Given the description of an element on the screen output the (x, y) to click on. 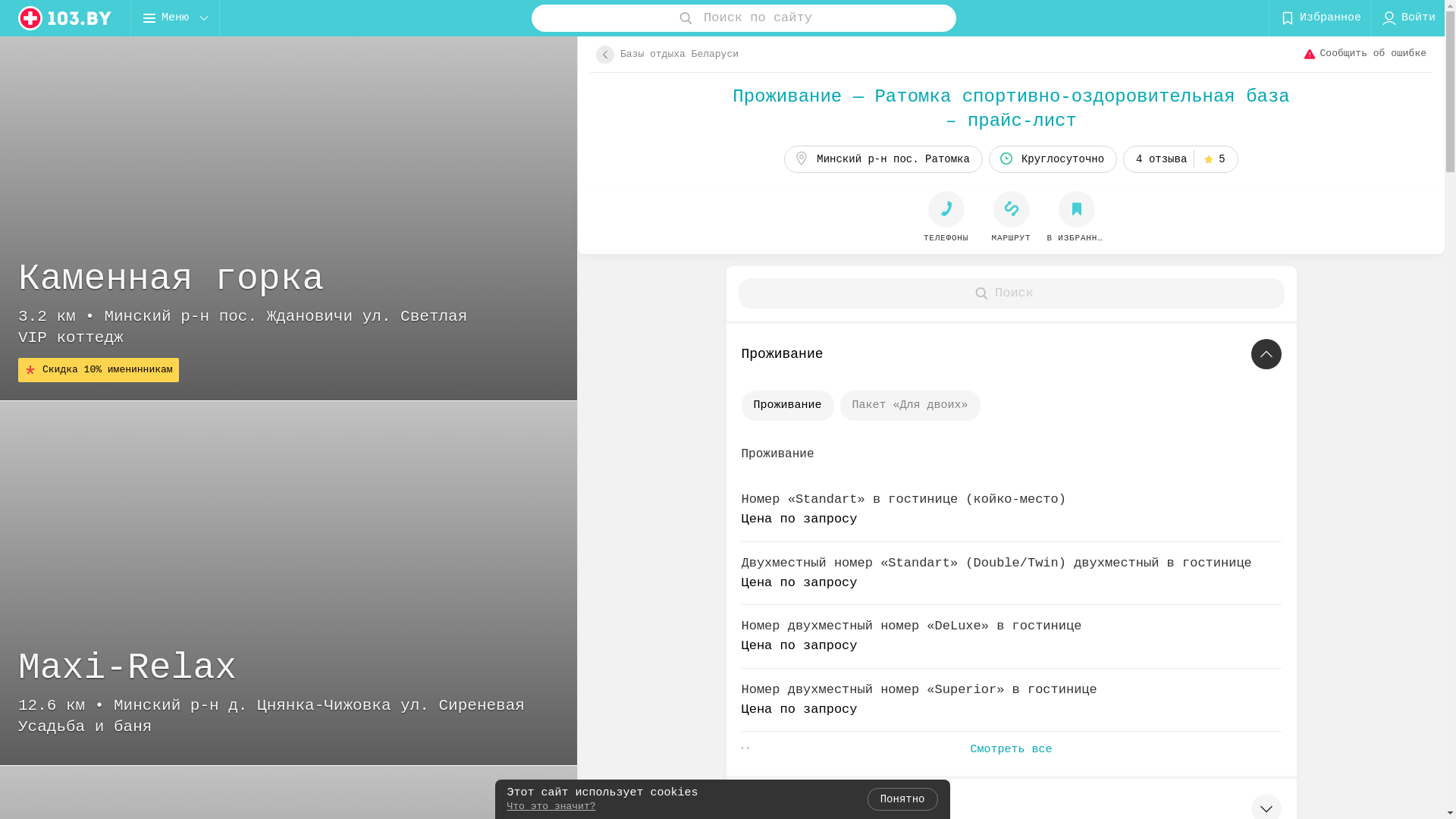
logo Element type: hover (65, 18)
